Given the description of an element on the screen output the (x, y) to click on. 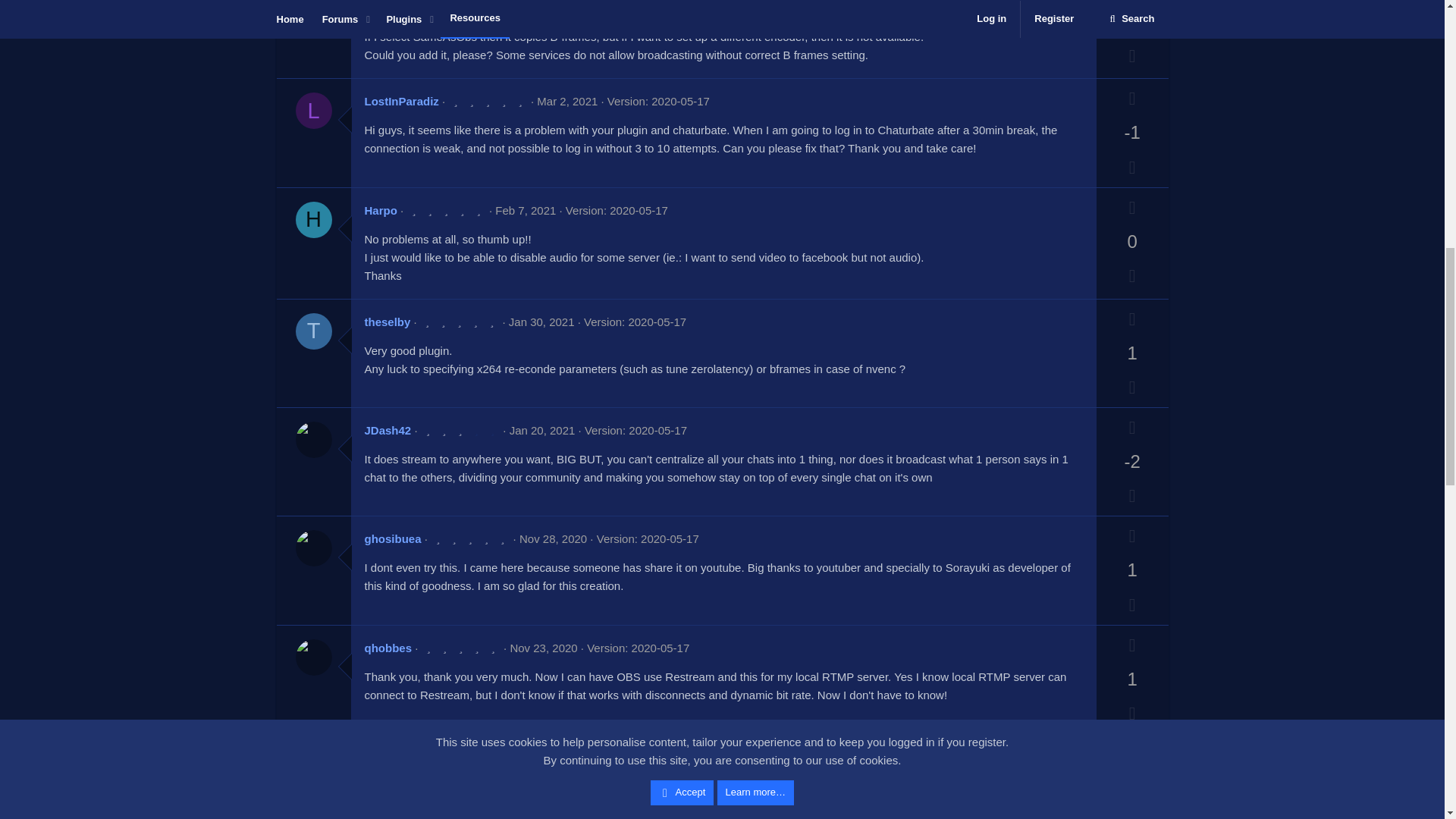
Mar 2, 2021 at 9:33 AM (566, 101)
Feb 7, 2021 at 7:19 PM (525, 210)
